Given the description of an element on the screen output the (x, y) to click on. 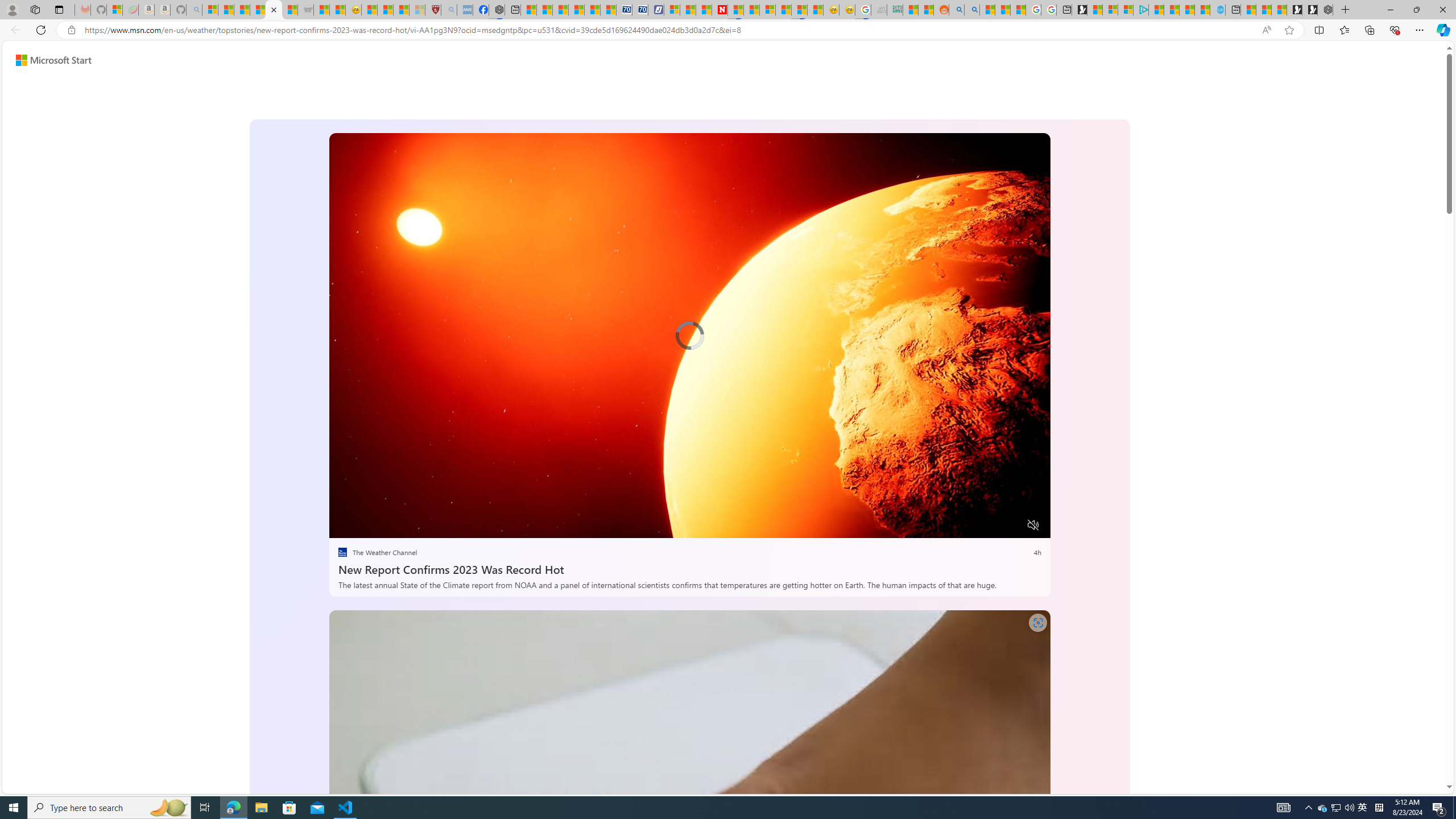
Quality Settings (964, 525)
placeholder The Weather Channel (376, 552)
